Given the description of an element on the screen output the (x, y) to click on. 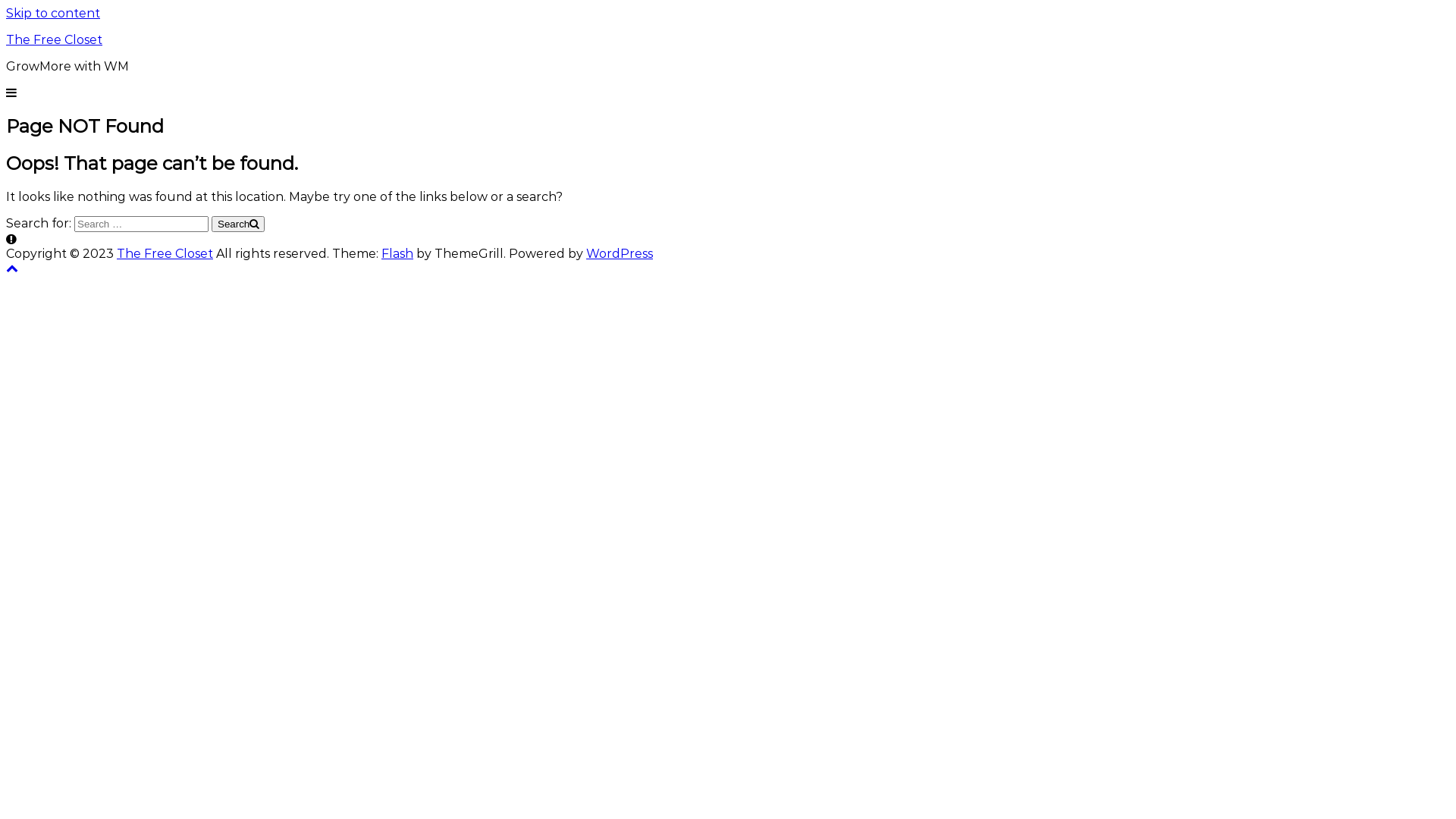
Search Element type: text (237, 224)
Flash Element type: text (397, 253)
The Free Closet Element type: text (54, 39)
The Free Closet Element type: text (164, 253)
WordPress Element type: text (619, 253)
Skip to content Element type: text (53, 13)
